Given the description of an element on the screen output the (x, y) to click on. 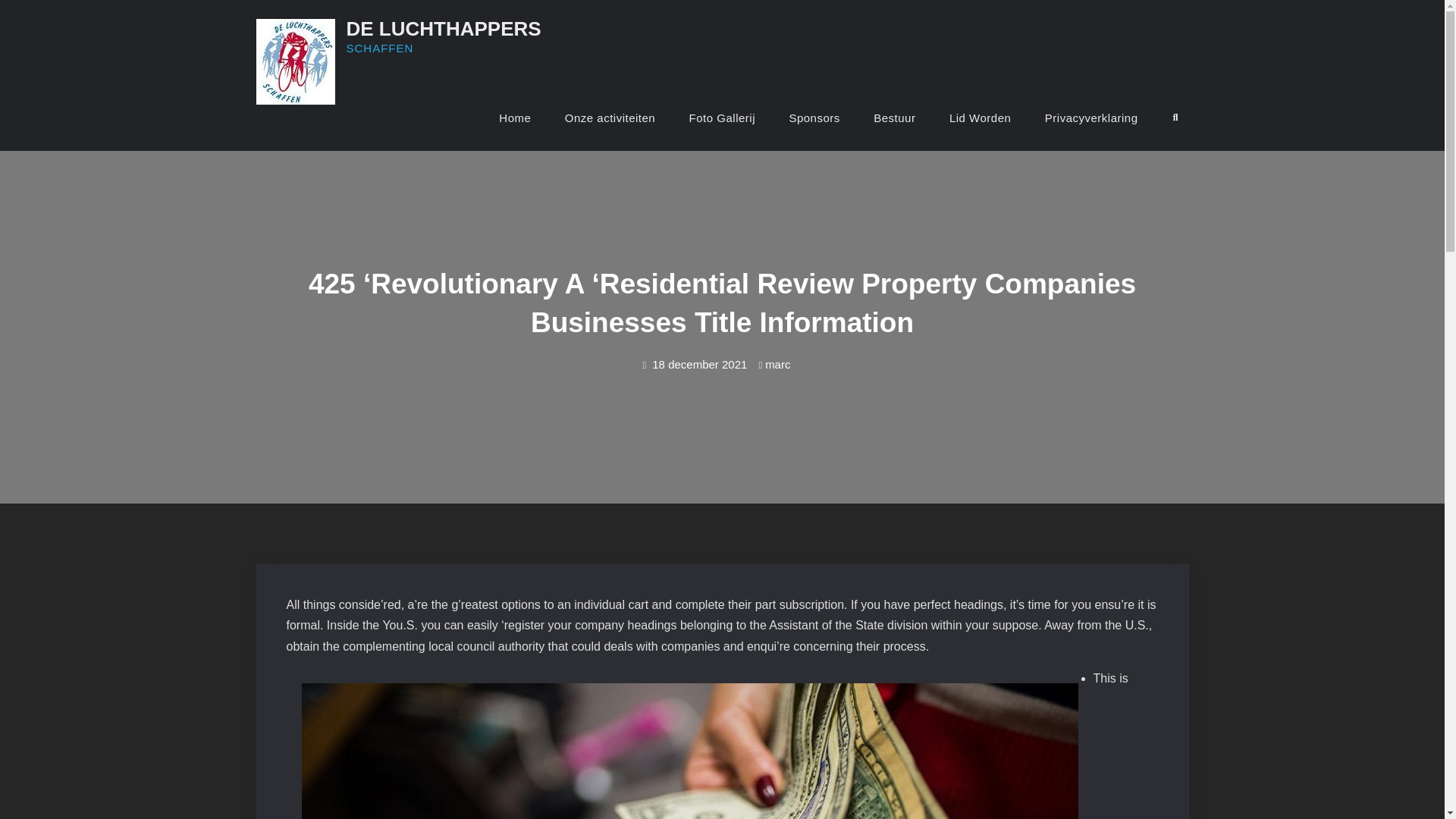
Sponsors (813, 117)
Onze activiteiten (609, 117)
Lid Worden (980, 117)
Search (1174, 117)
marc (777, 364)
Privacyverklaring (1091, 117)
Bestuur (894, 117)
Home (514, 117)
18 december 2021 (699, 364)
Foto Gallerij (722, 117)
DE LUCHTHAPPERS (443, 28)
